Given the description of an element on the screen output the (x, y) to click on. 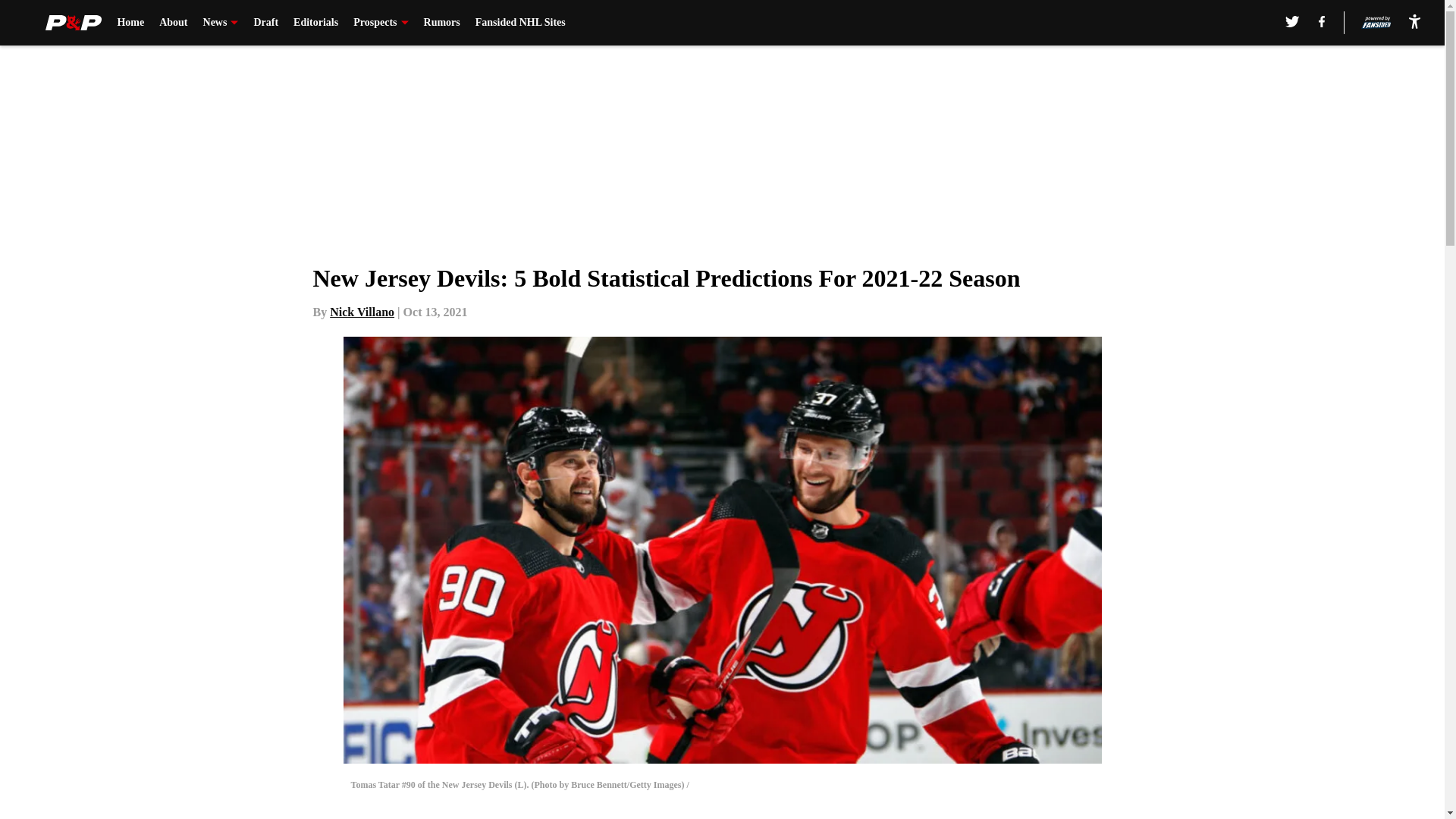
Draft (265, 22)
Editorials (315, 22)
Home (130, 22)
Fansided NHL Sites (521, 22)
Rumors (441, 22)
About (172, 22)
Nick Villano (362, 311)
